Given the description of an element on the screen output the (x, y) to click on. 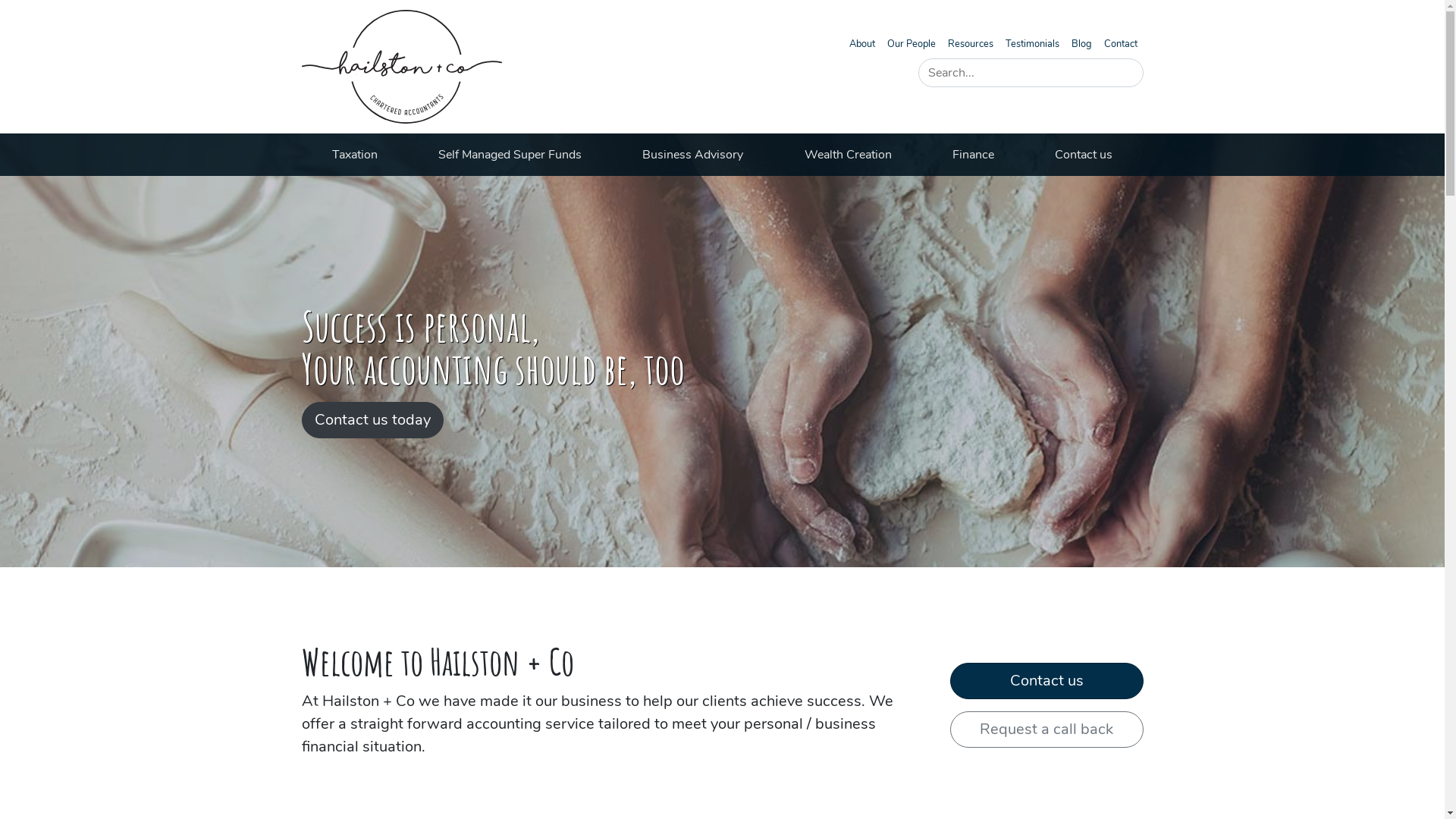
Request a call back Element type: text (1045, 729)
Finance Element type: text (973, 154)
Taxation Element type: text (354, 154)
Self Managed Super Funds Element type: text (509, 154)
Contact Element type: text (1120, 43)
Our People Element type: text (911, 43)
Contact us Element type: text (1045, 680)
Resources Element type: text (970, 43)
Business Advisory Element type: text (692, 154)
Contact us today Element type: text (372, 419)
About Element type: text (862, 43)
Contact us Element type: text (1083, 154)
Testimonials Element type: text (1032, 43)
Blog Element type: text (1080, 43)
Wealth Creation Element type: text (847, 154)
